Given the description of an element on the screen output the (x, y) to click on. 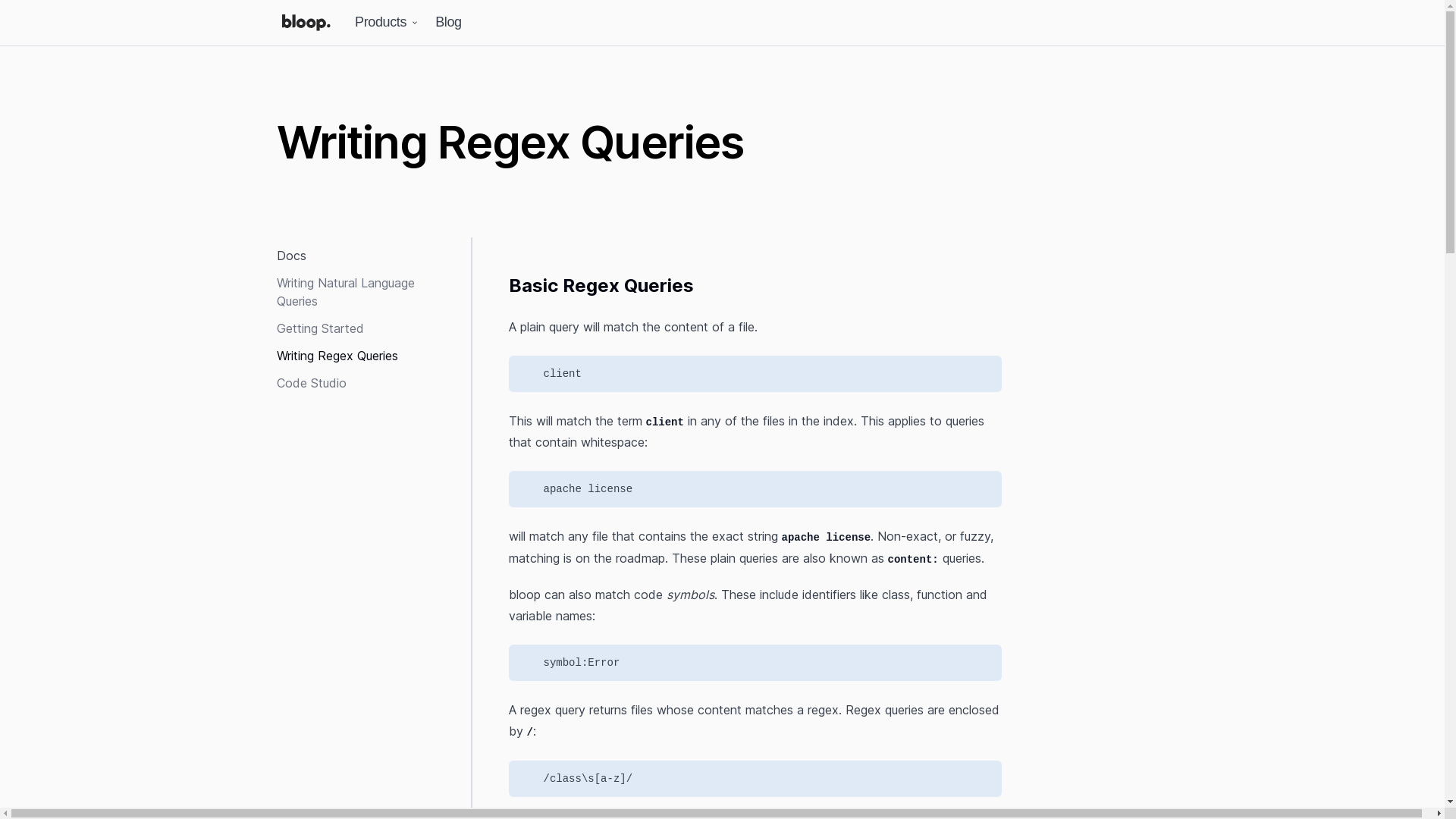
Getting Started (319, 328)
Products (387, 22)
Code Studio (311, 382)
Writing Regex Queries (336, 355)
Blog (448, 22)
Writing Natural Language Queries (344, 291)
